Given the description of an element on the screen output the (x, y) to click on. 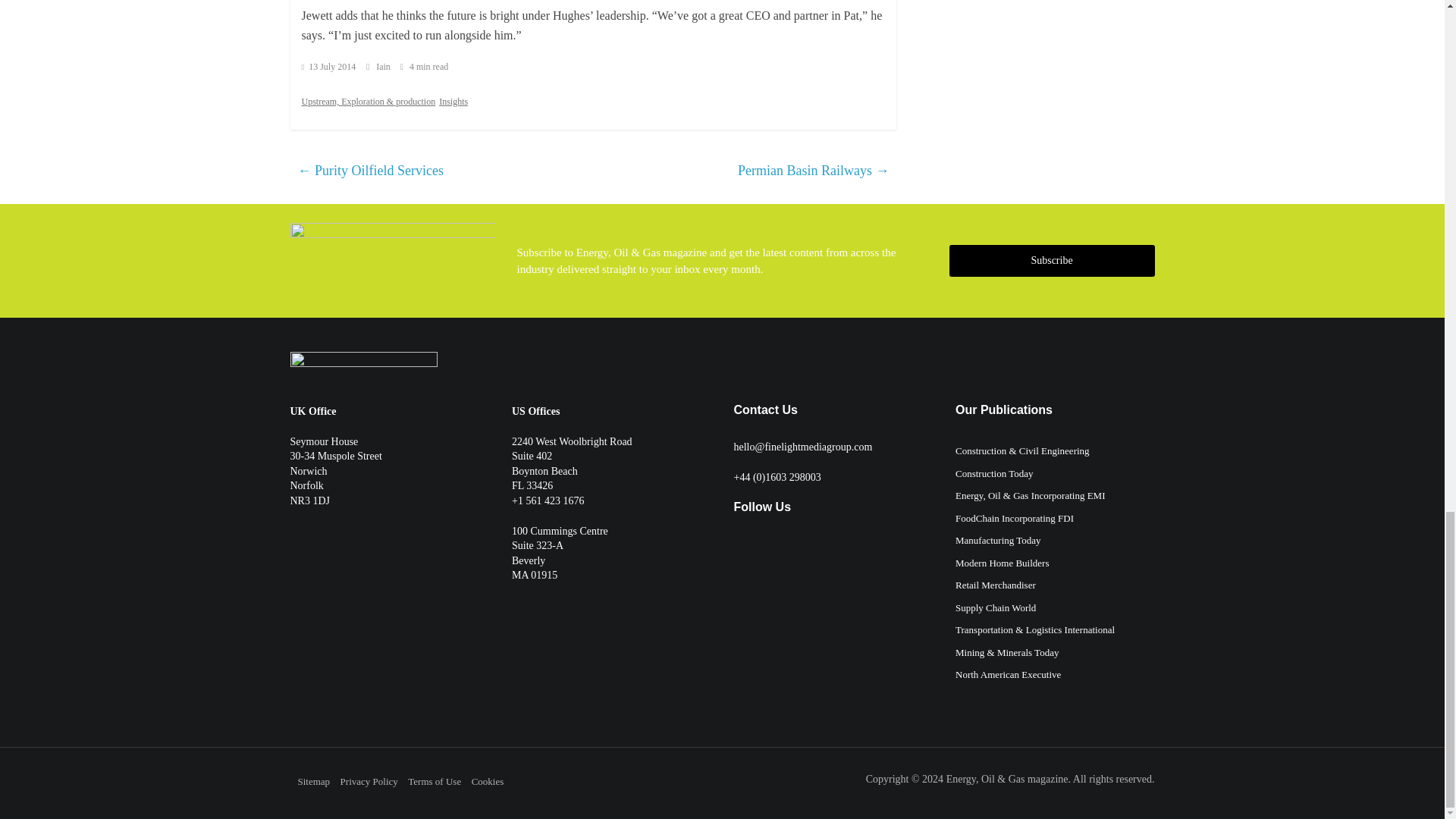
Subscribe (1051, 260)
13 July 2014 (328, 66)
LinkedIn (785, 547)
Insights (453, 101)
Twitter (739, 547)
3:37 pm (328, 66)
Iain (384, 66)
Iain (384, 66)
